Given the description of an element on the screen output the (x, y) to click on. 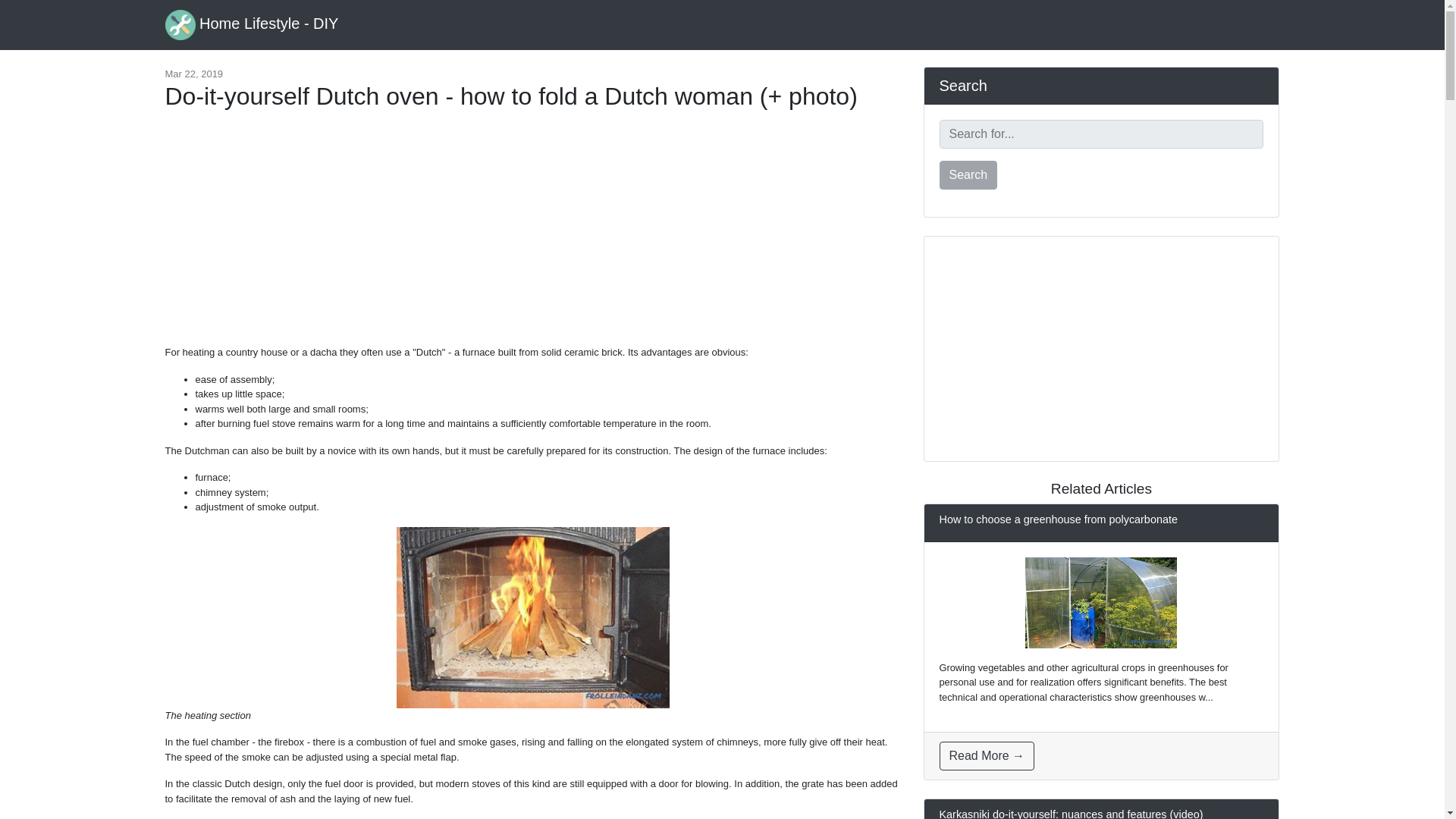
Search (968, 174)
Home Lifestyle - DIY (252, 24)
Advertisement (531, 234)
